Given the description of an element on the screen output the (x, y) to click on. 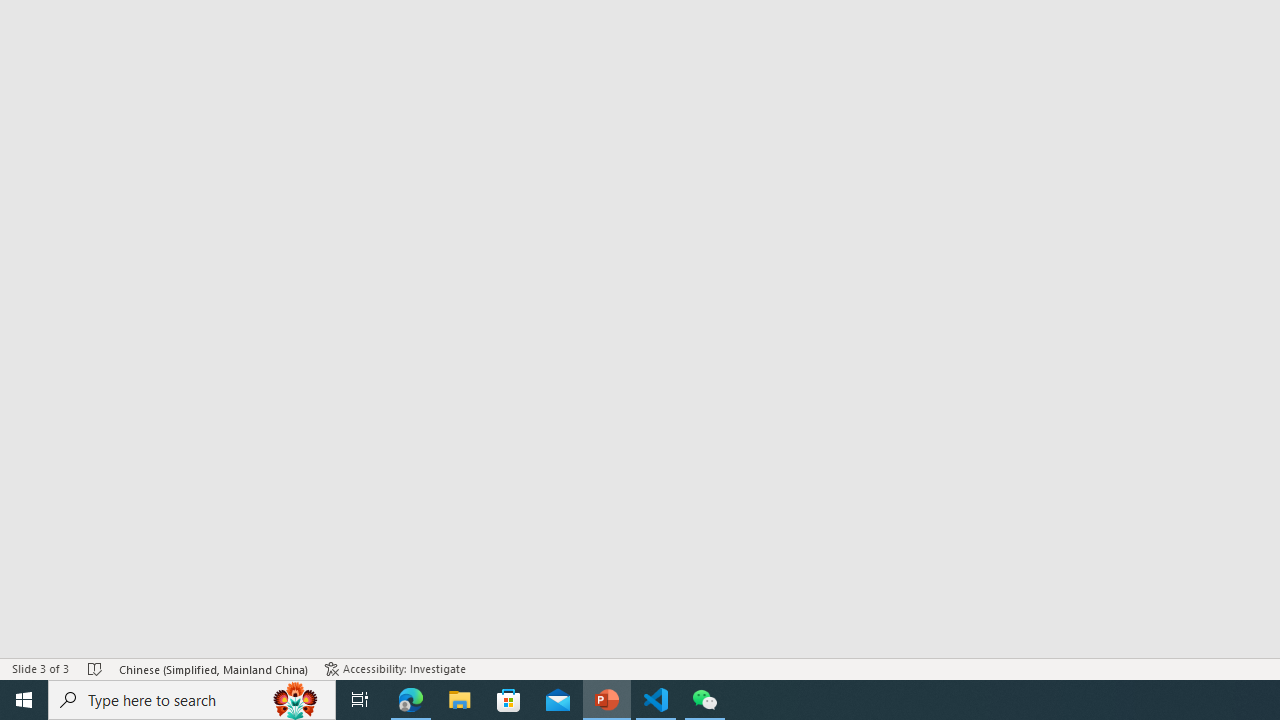
Accessibility Checker Accessibility: Investigate (397, 668)
Spell Check No Errors (95, 668)
